Given the description of an element on the screen output the (x, y) to click on. 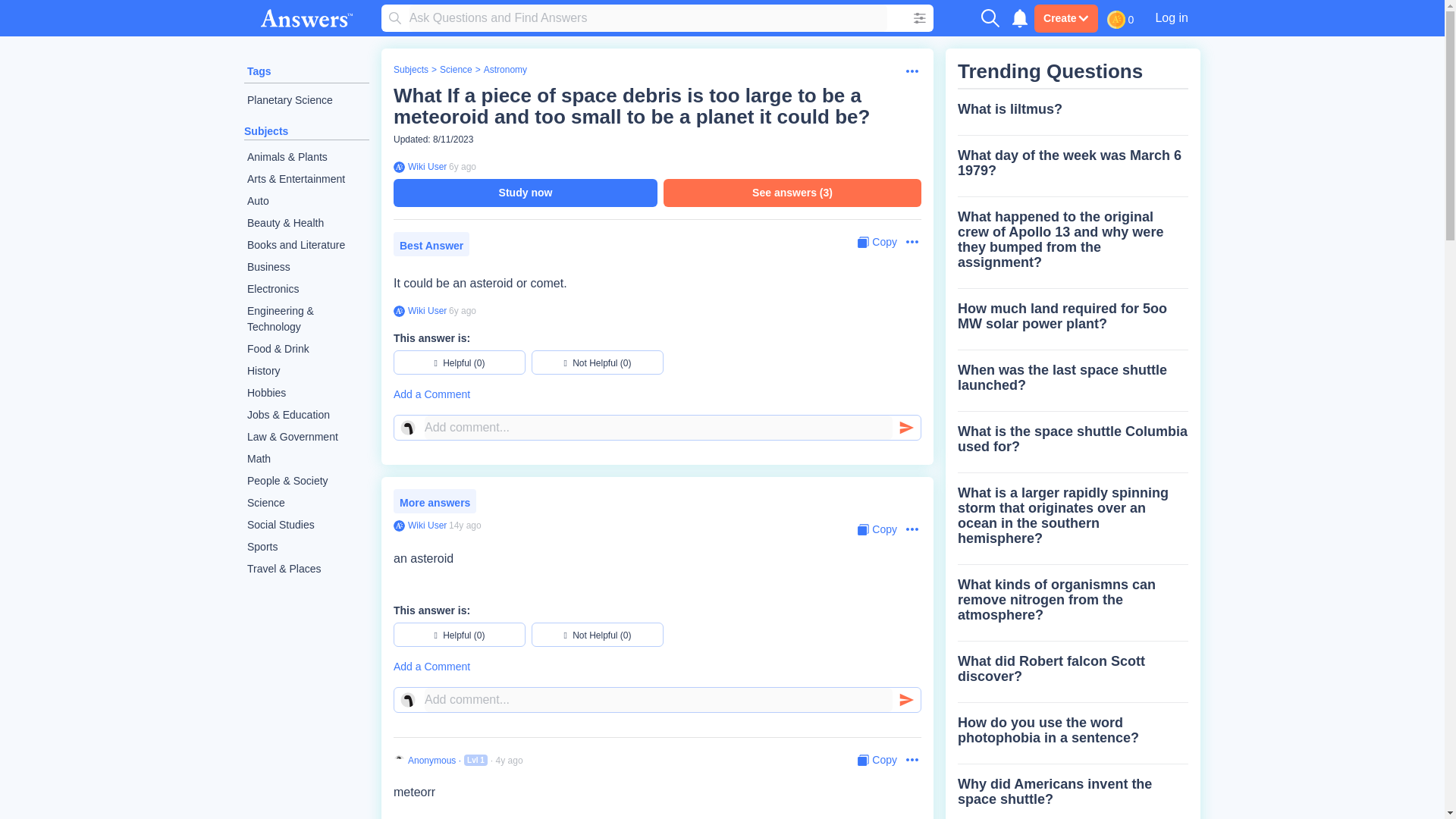
2020-04-13 20:05:01 (509, 760)
Planetary Science (306, 100)
2018-01-14 19:48:47 (462, 310)
Electronics (306, 289)
Study now (525, 193)
Business (306, 267)
Tags (258, 70)
Auto (306, 201)
2018-01-14 19:48:47 (462, 166)
Wiki User (425, 310)
